Given the description of an element on the screen output the (x, y) to click on. 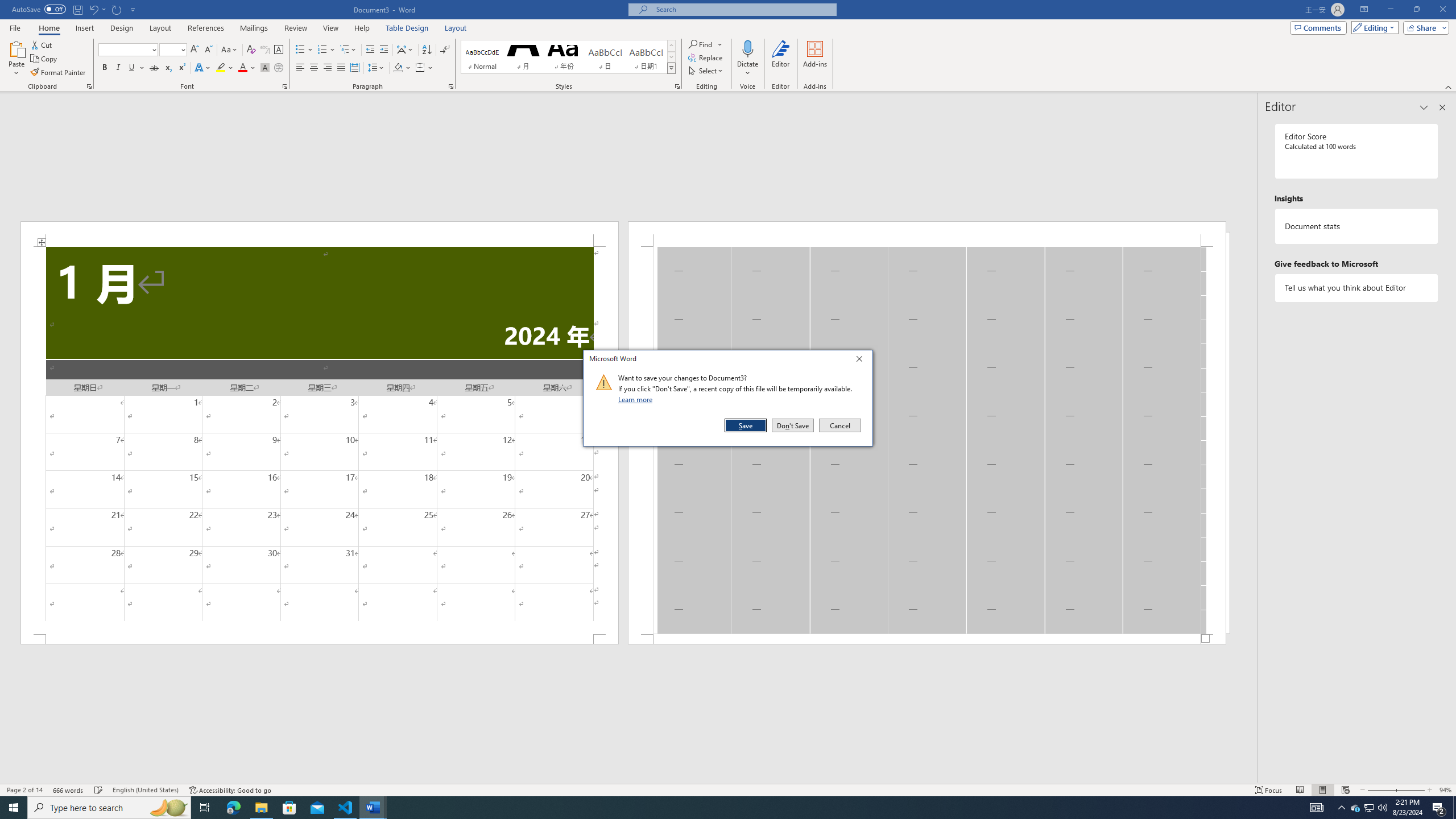
Styles (670, 67)
Align Right (327, 67)
Underline (131, 67)
Print Layout (1322, 790)
Paste (16, 48)
Open (182, 49)
Clear Formatting (250, 49)
Asian Layout (405, 49)
Text Highlight Color Yellow (220, 67)
Row up (670, 45)
Spelling and Grammar Check Checking (98, 790)
Paragraph... (450, 85)
File Explorer - 1 running window (261, 807)
Row Down (670, 56)
